Given the description of an element on the screen output the (x, y) to click on. 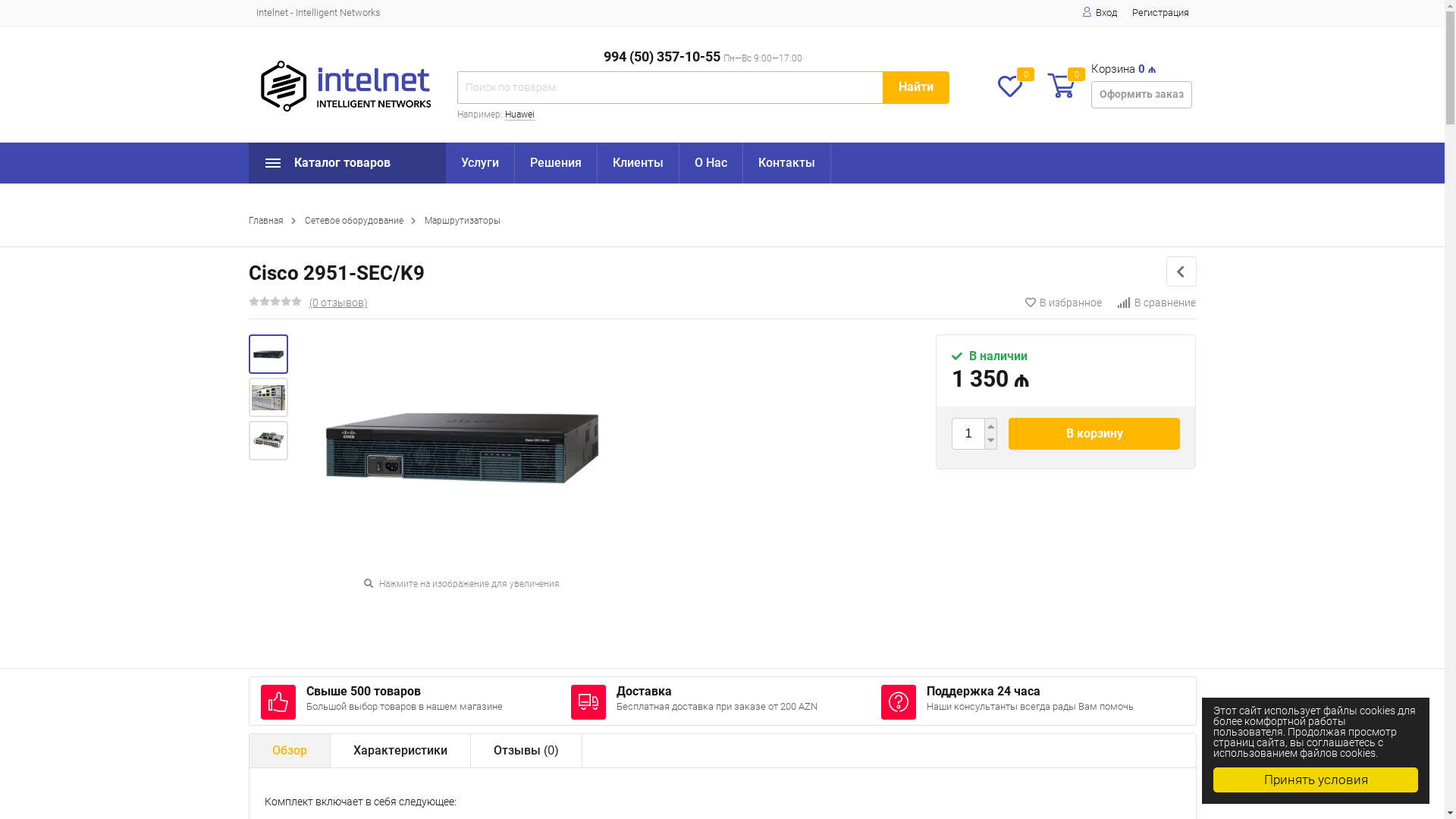
Cisco 2951-SEC/K9 Element type: hover (461, 447)
Cisco 2951-SEC/K9 Element type: hover (268, 397)
Cisco 2951-SEC/K9 Element type: hover (268, 354)
Cisco 2951-SEC/K9 Element type: hover (268, 439)
Cisco 2951-SEC/K9 Element type: hover (268, 352)
Cisco 2951-SEC/K9 Element type: hover (268, 440)
Cisco 2951-SEC/K9 Element type: hover (268, 396)
Huawei Element type: text (519, 114)
